Given the description of an element on the screen output the (x, y) to click on. 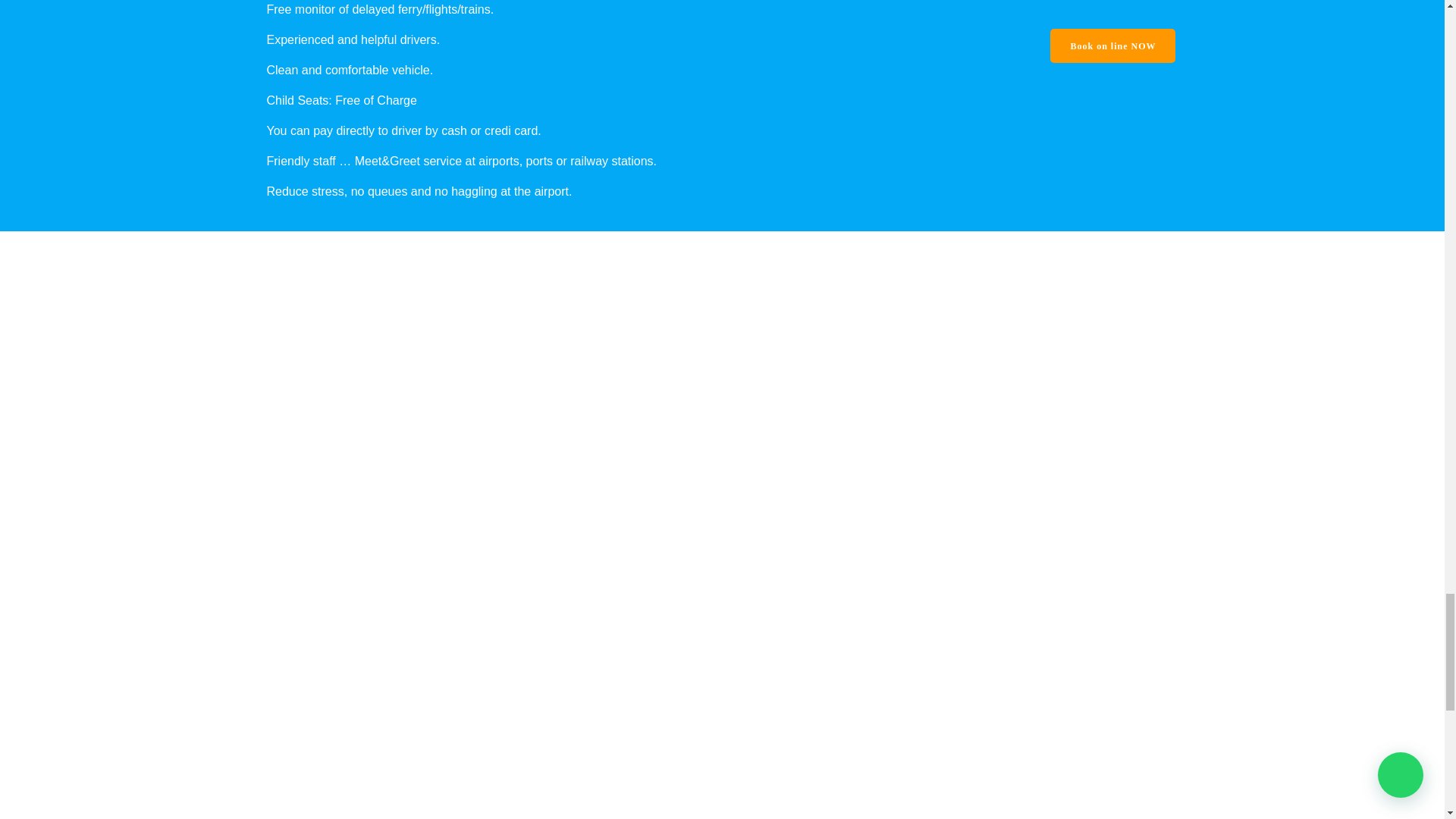
Book on line NOW (1111, 45)
